Given the description of an element on the screen output the (x, y) to click on. 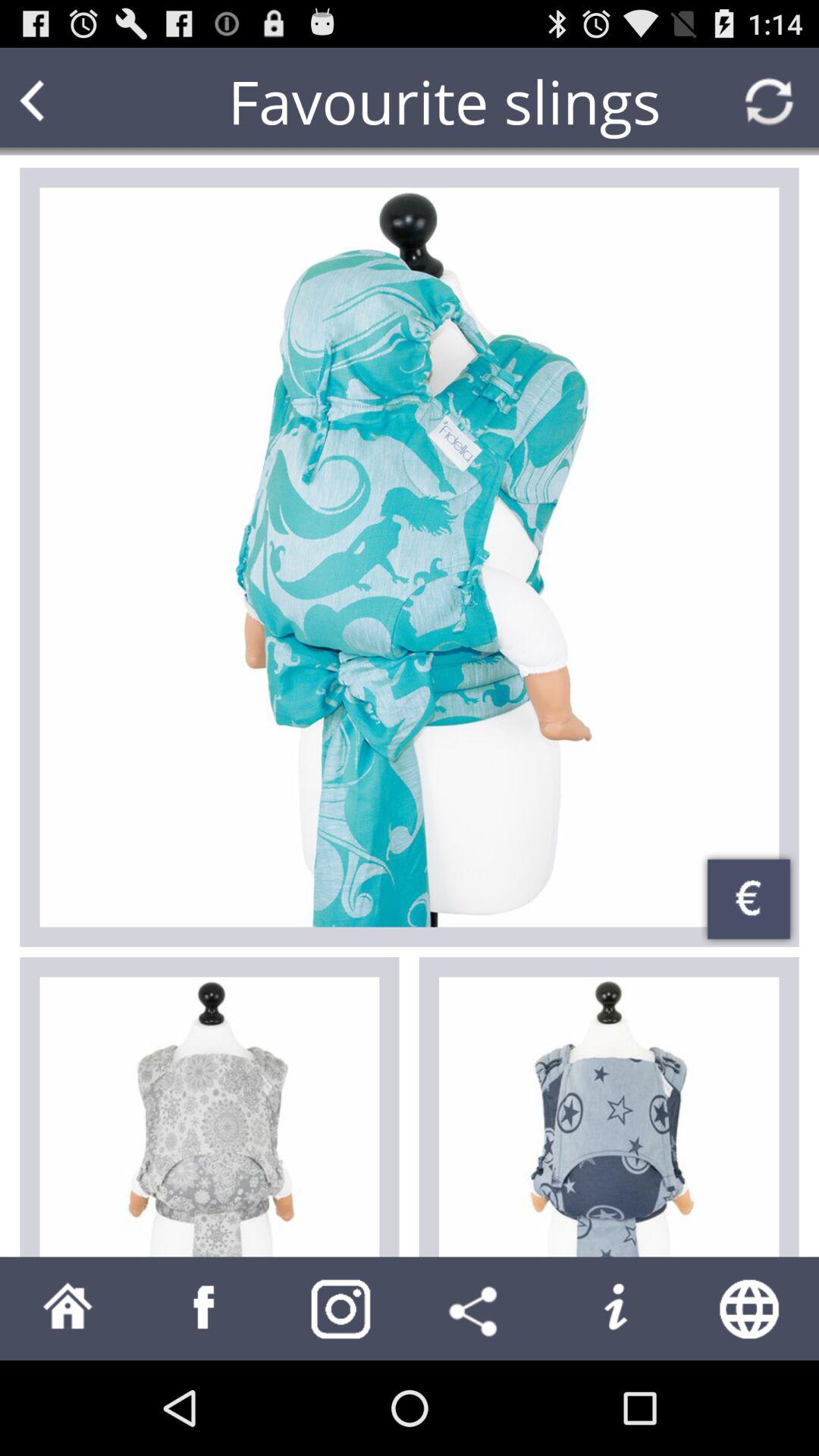
press for more details (409, 557)
